Given the description of an element on the screen output the (x, y) to click on. 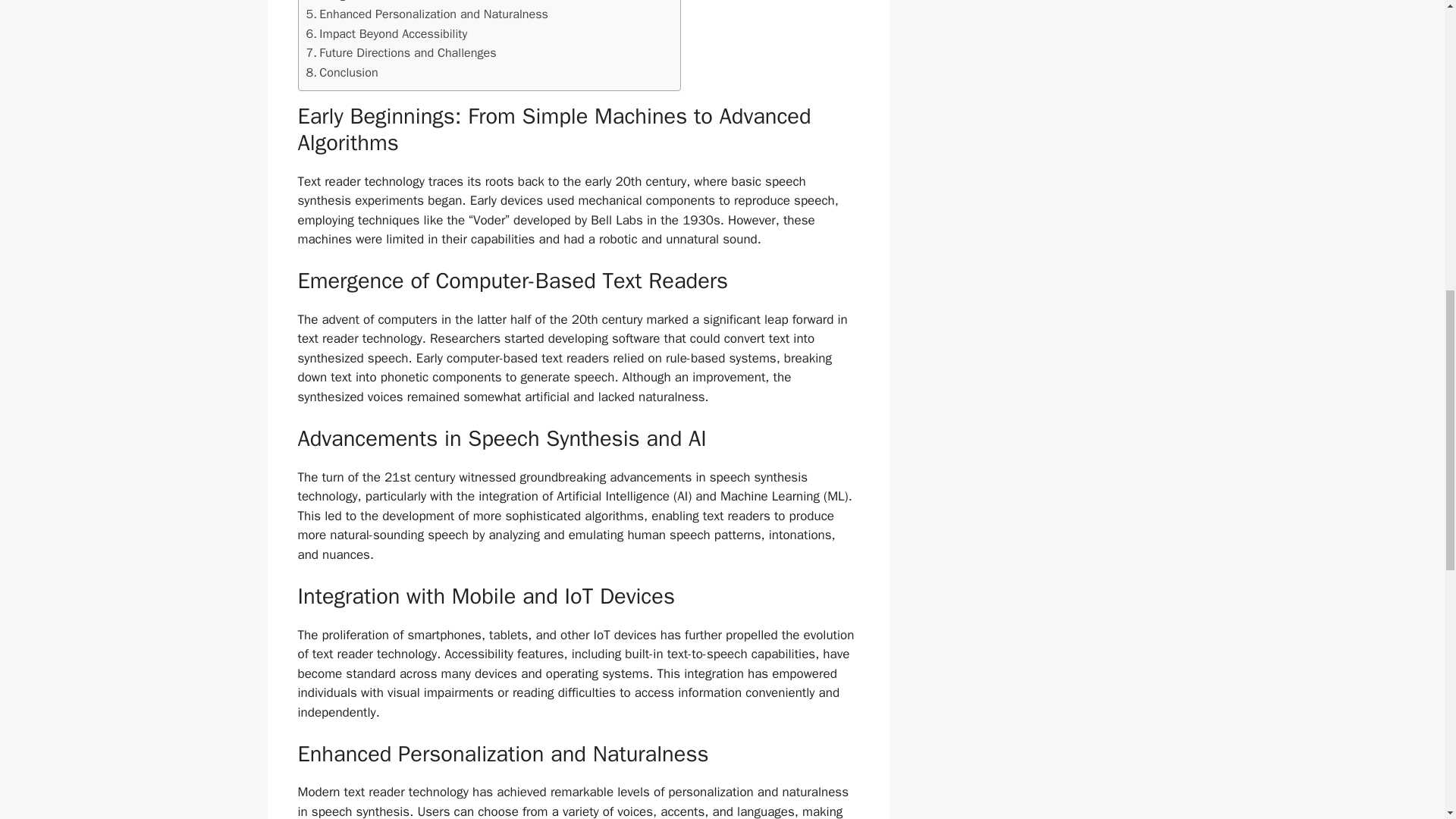
Conclusion (341, 72)
Impact Beyond Accessibility (386, 34)
Impact Beyond Accessibility (386, 34)
Conclusion (341, 72)
Integration with Mobile and IoT Devices (417, 2)
Future Directions and Challenges (400, 53)
Future Directions and Challenges (400, 53)
Enhanced Personalization and Naturalness (426, 14)
Integration with Mobile and IoT Devices (417, 2)
Enhanced Personalization and Naturalness (426, 14)
